Given the description of an element on the screen output the (x, y) to click on. 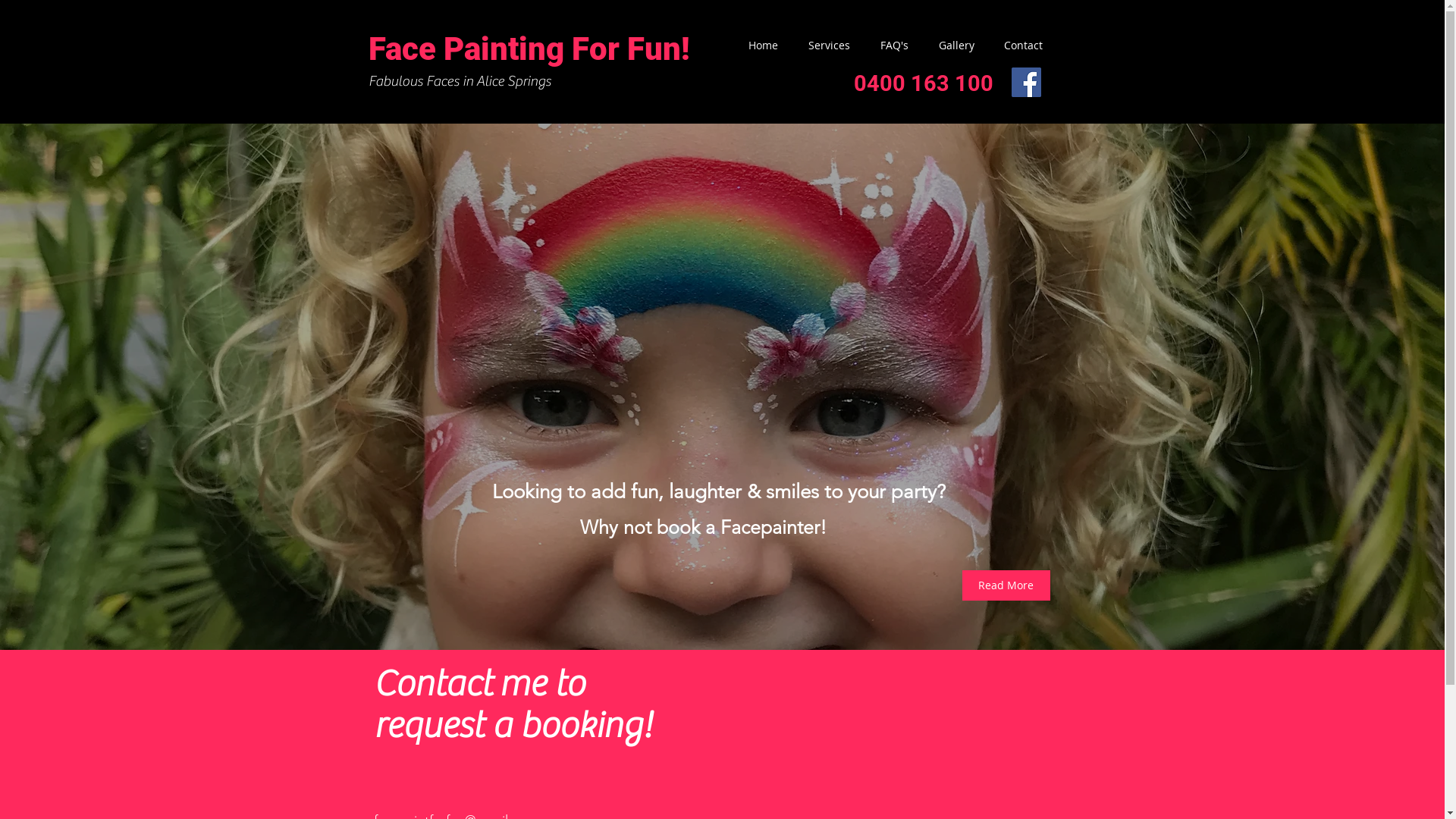
Home Element type: text (754, 45)
FAQ's Element type: text (885, 45)
Read More Element type: text (1005, 585)
Contact Element type: text (1015, 45)
Gallery Element type: text (949, 45)
Services Element type: text (821, 45)
